Given the description of an element on the screen output the (x, y) to click on. 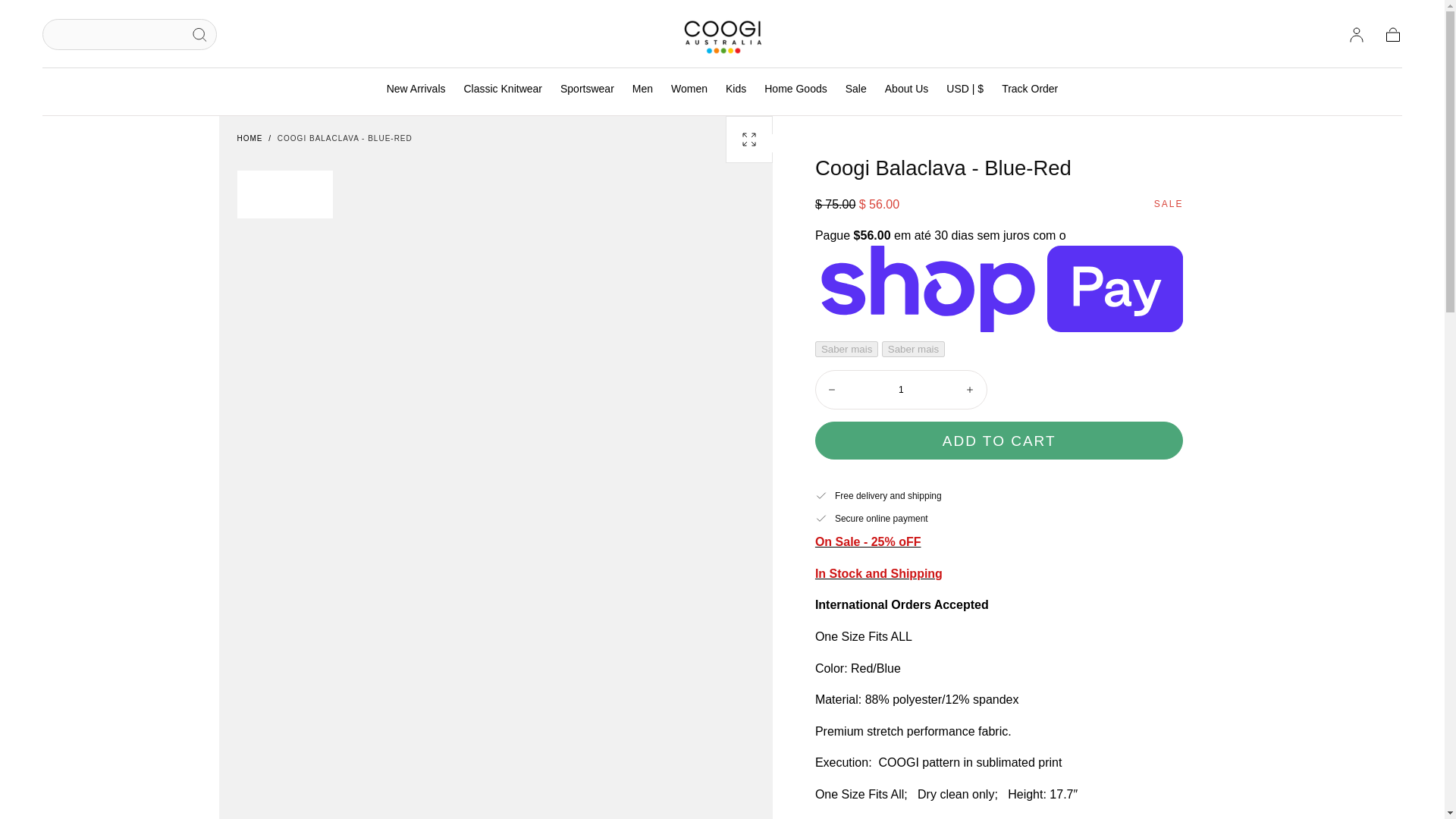
Kids (735, 90)
Search (199, 34)
Cart (1393, 34)
Women (689, 90)
Sportswear (587, 90)
Cart (1393, 34)
1 (900, 389)
Skip to content (67, 18)
Sign in (1356, 34)
Sale (855, 90)
